Given the description of an element on the screen output the (x, y) to click on. 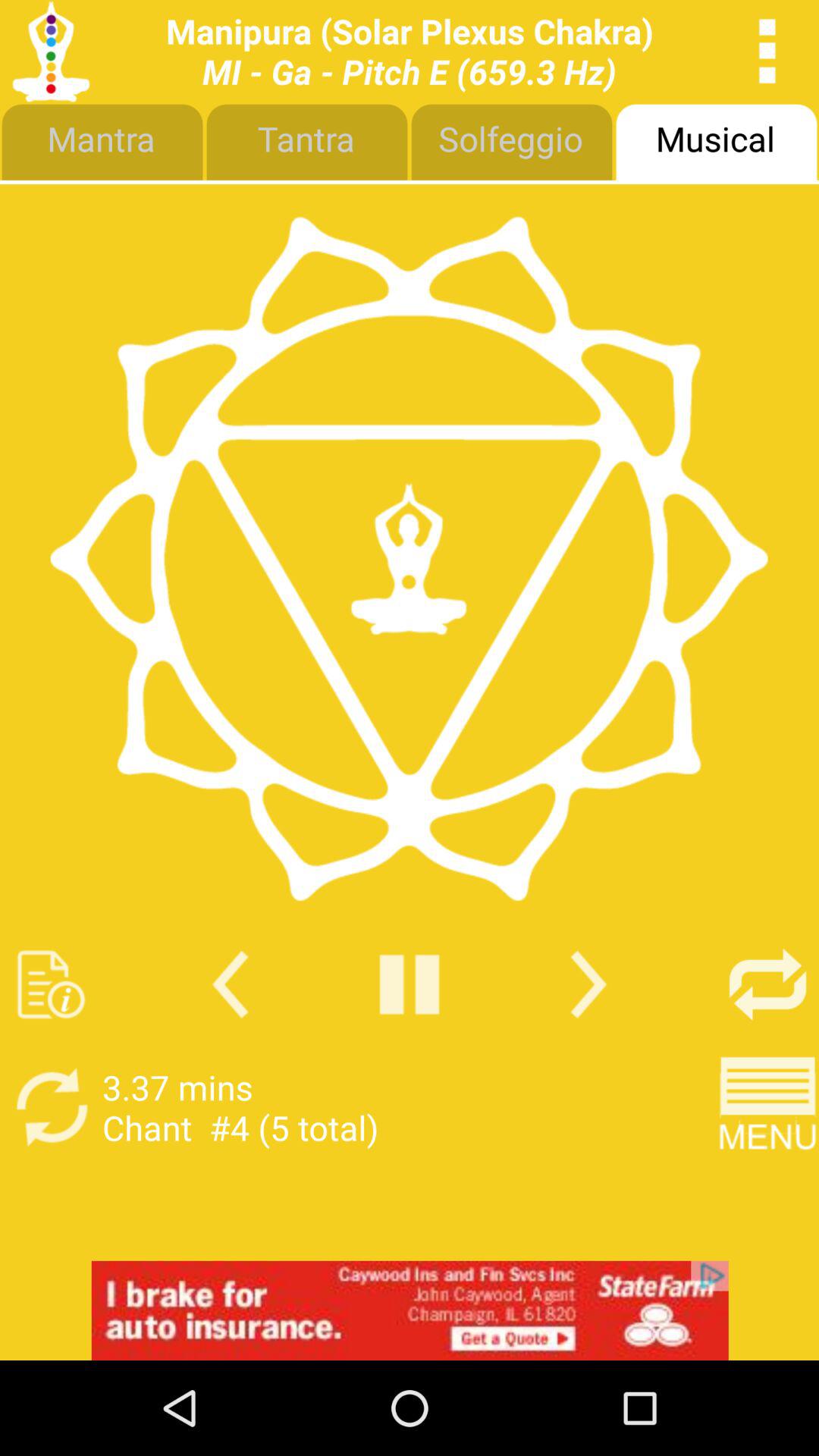
menu button (767, 1107)
